Given the description of an element on the screen output the (x, y) to click on. 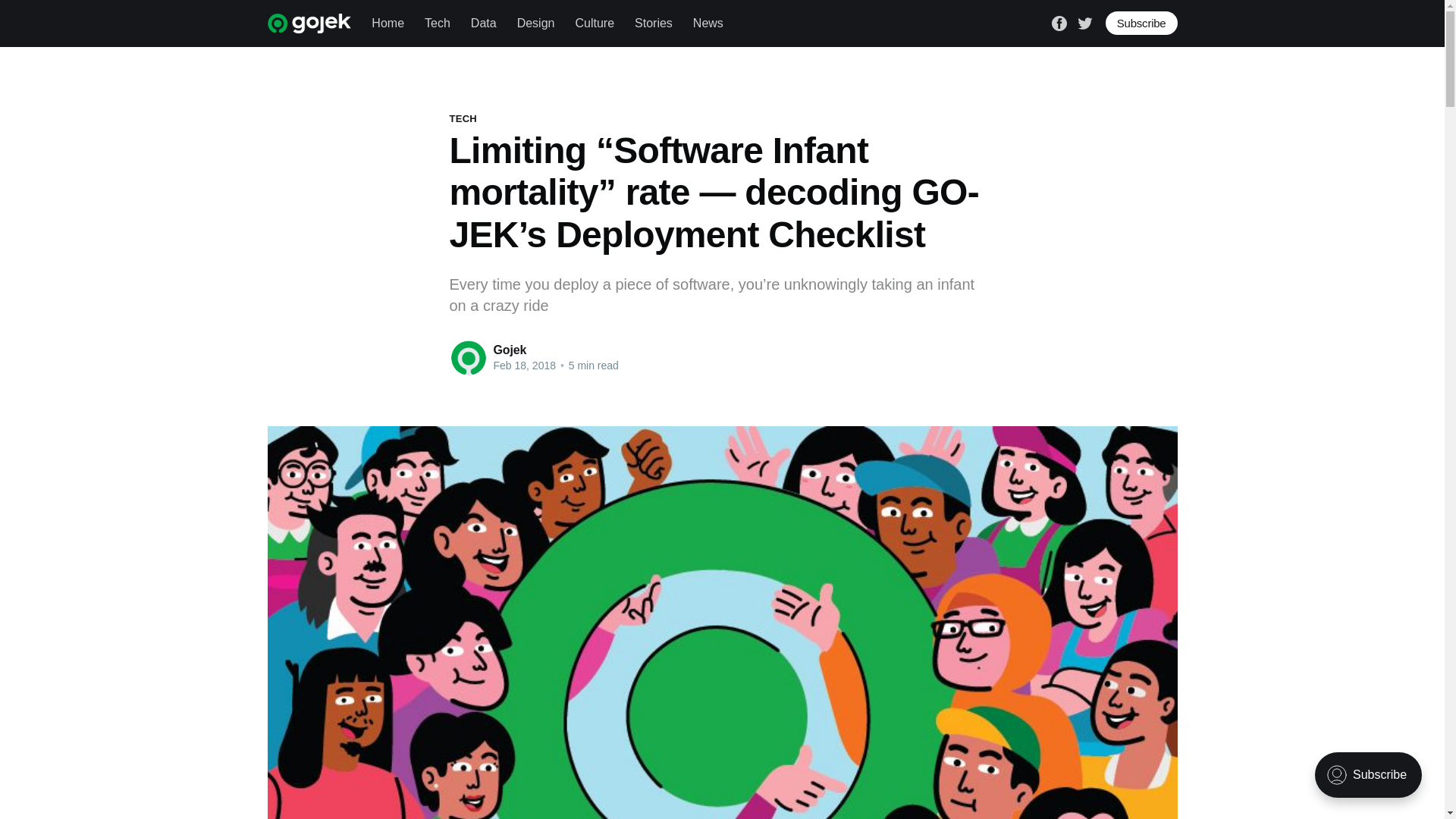
Facebook (1059, 21)
News (708, 22)
Tech (437, 22)
Gojek (509, 349)
Design (535, 22)
Data (483, 22)
TECH (462, 119)
Home (387, 22)
Subscribe (1141, 23)
Twitter (1085, 21)
